Given the description of an element on the screen output the (x, y) to click on. 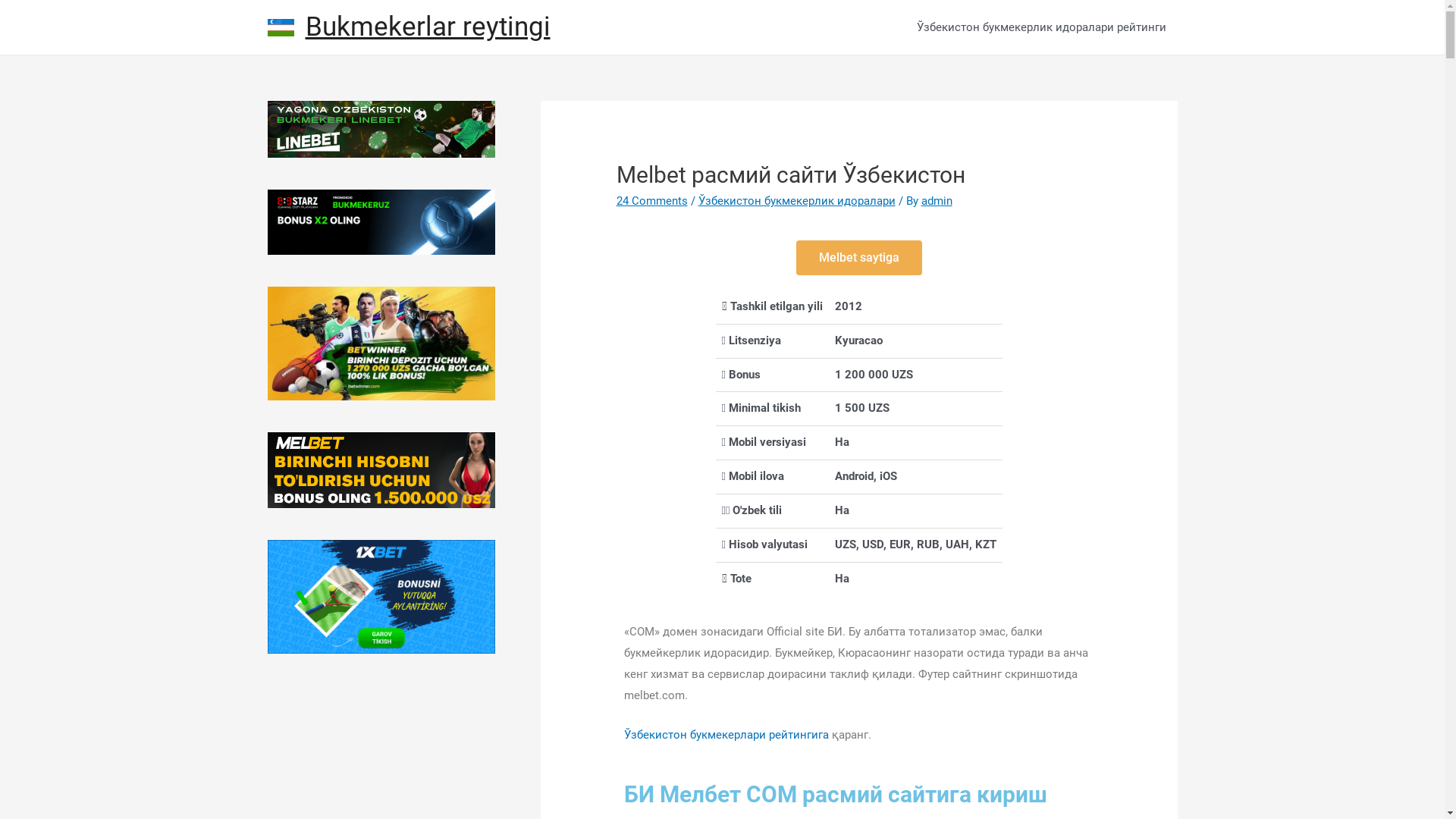
888starz Element type: hover (380, 221)
Bukmekerlar reytingi Element type: text (426, 26)
24 Comments Element type: text (651, 200)
admin Element type: text (936, 200)
linebet Element type: hover (380, 128)
Melbet saytiga Element type: text (859, 257)
